Given the description of an element on the screen output the (x, y) to click on. 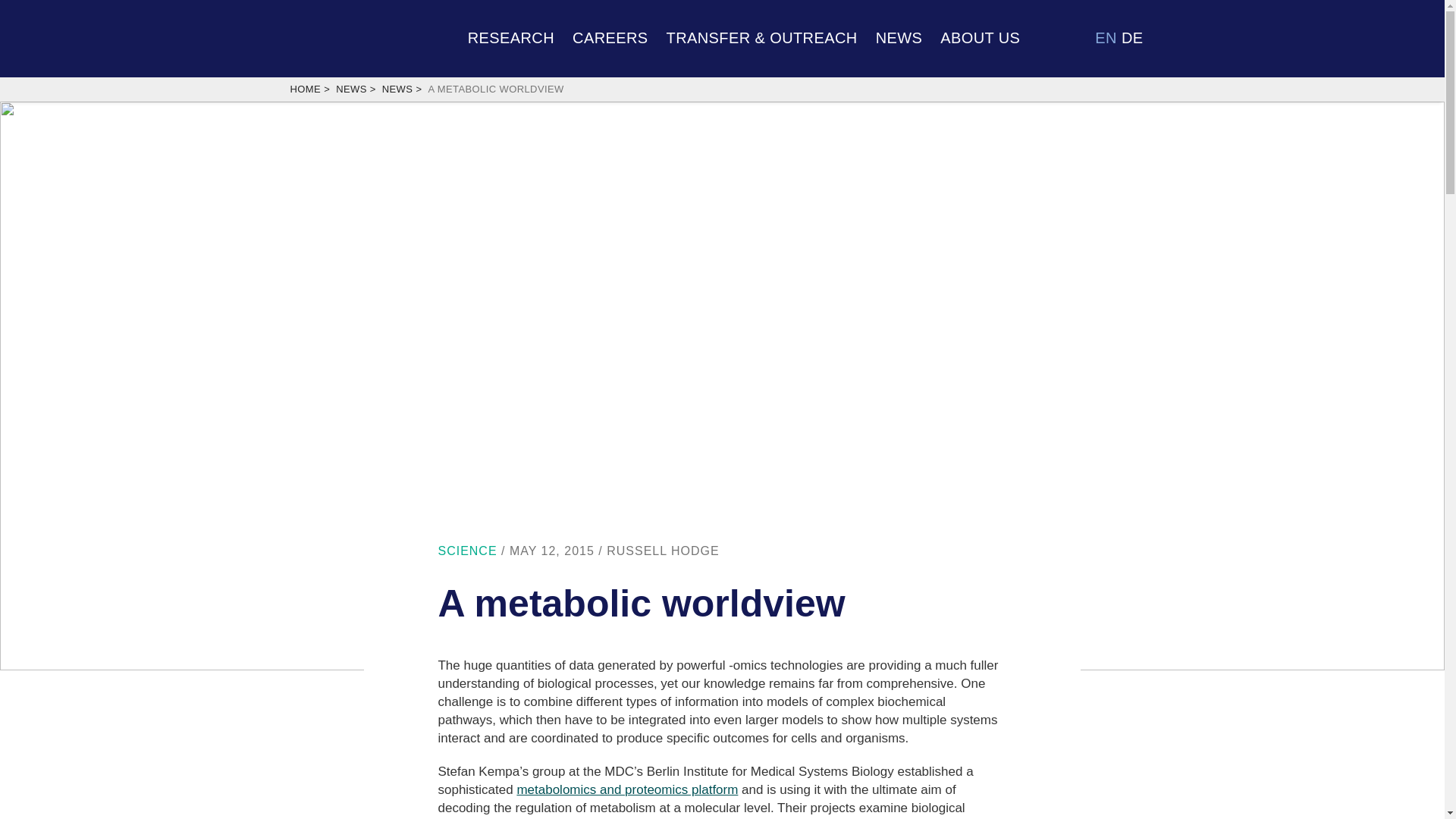
CAREERS (610, 36)
English (1105, 37)
RESEARCH (510, 36)
Deutsch (1131, 37)
